Given the description of an element on the screen output the (x, y) to click on. 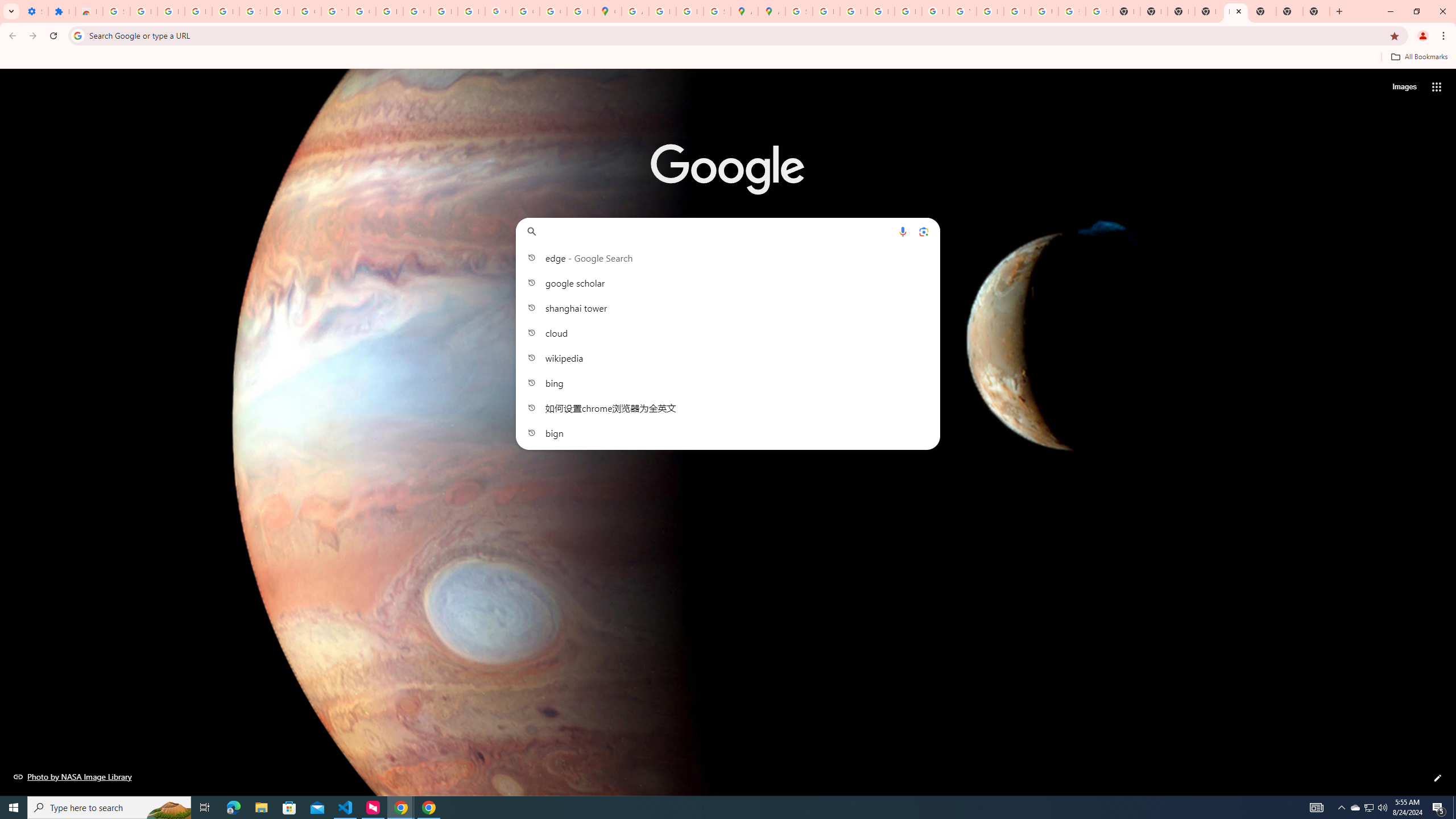
Google Account (307, 11)
Customize this page (1437, 778)
Sign in - Google Accounts (253, 11)
Bookmarks (728, 58)
